Given the description of an element on the screen output the (x, y) to click on. 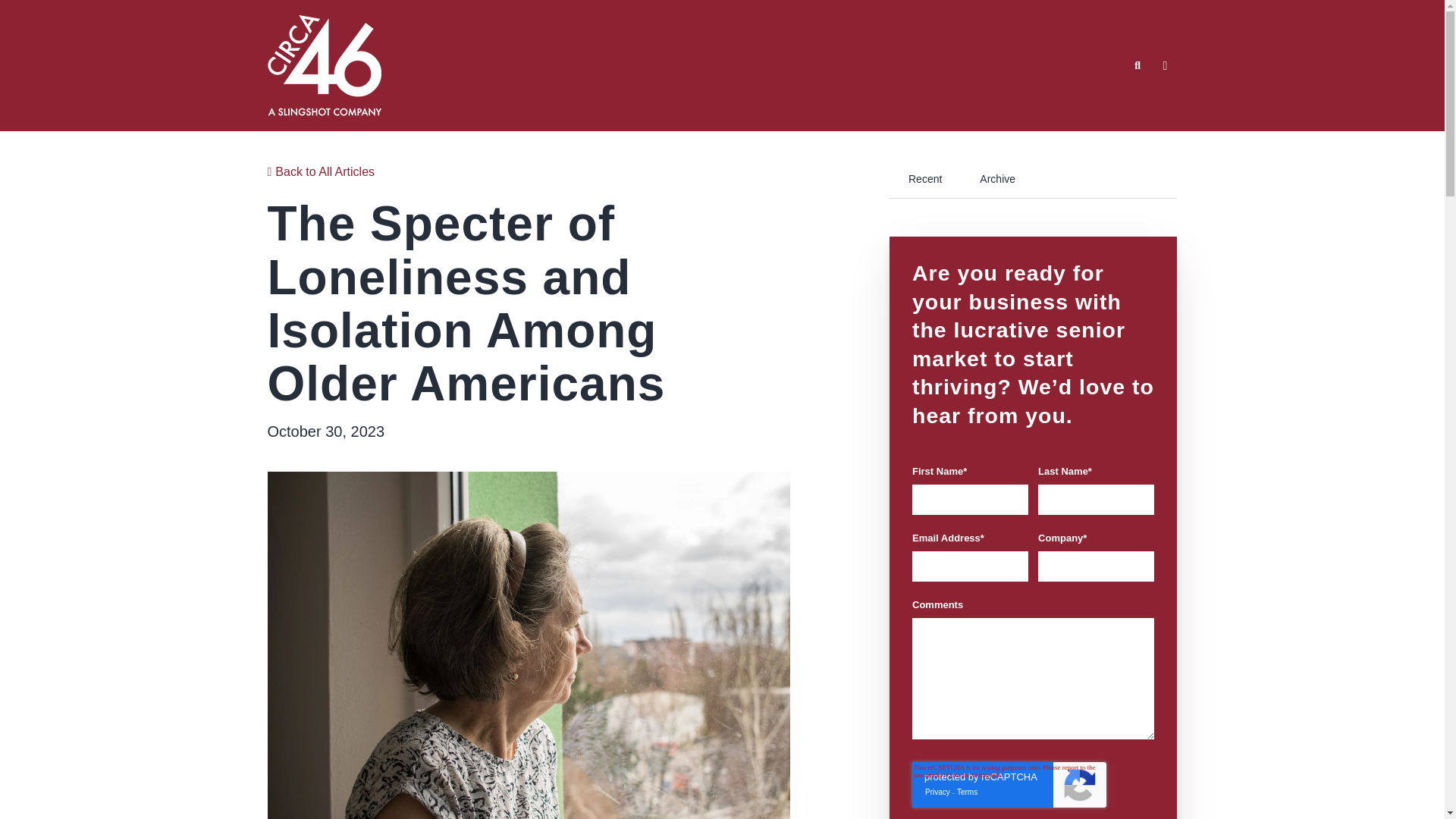
reCAPTCHA (1009, 784)
Back to All Articles (320, 171)
Recent (924, 179)
Archive (996, 179)
